Given the description of an element on the screen output the (x, y) to click on. 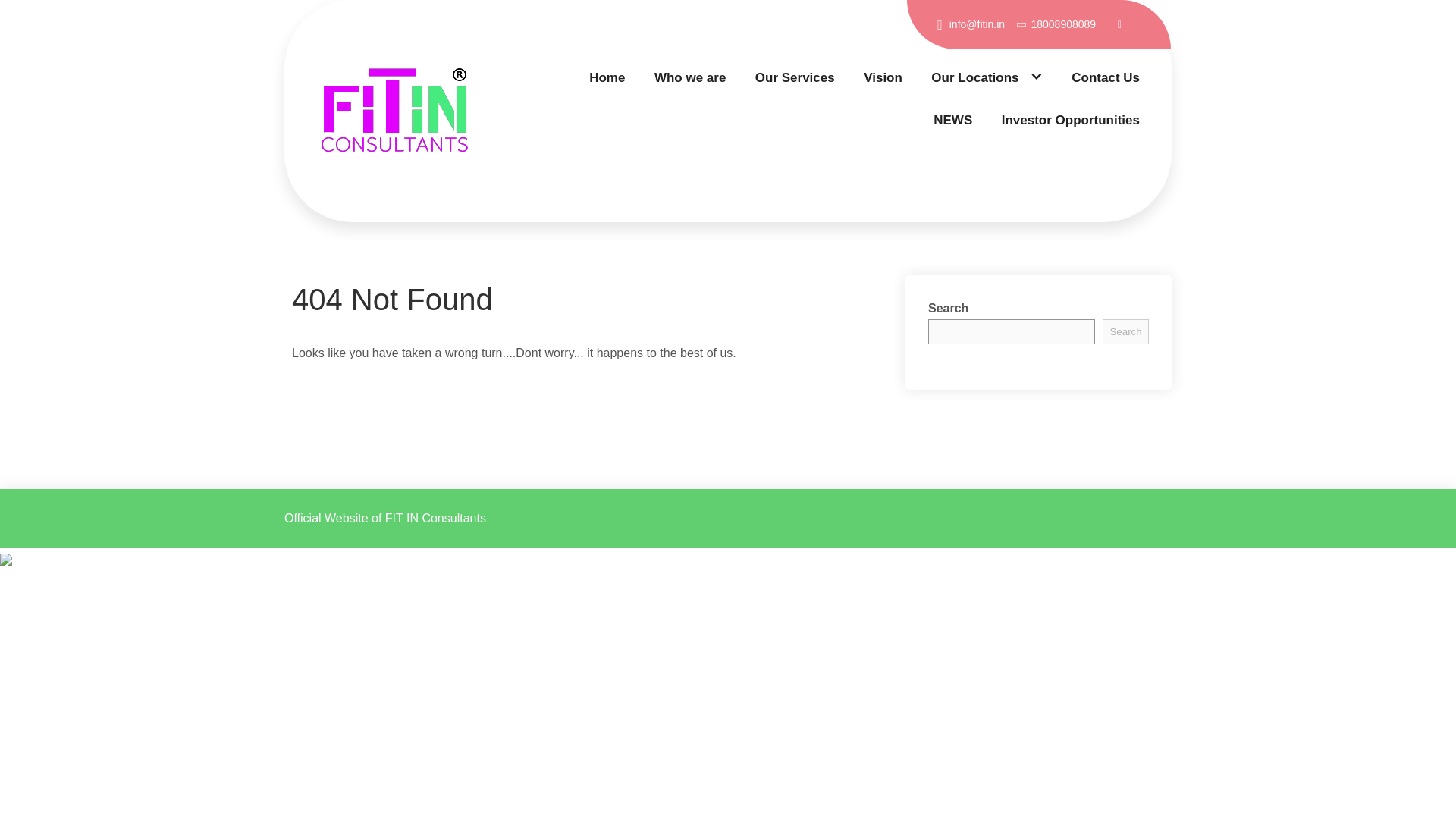
Contact Us (1105, 77)
Our Services (794, 77)
Home (606, 77)
Our Locations (986, 77)
FIT IN CONSULTANTS (412, 220)
Who we are (689, 77)
Investor Opportunities (1070, 120)
Search (1125, 331)
NEWS (952, 120)
Vision (882, 77)
